Given the description of an element on the screen output the (x, y) to click on. 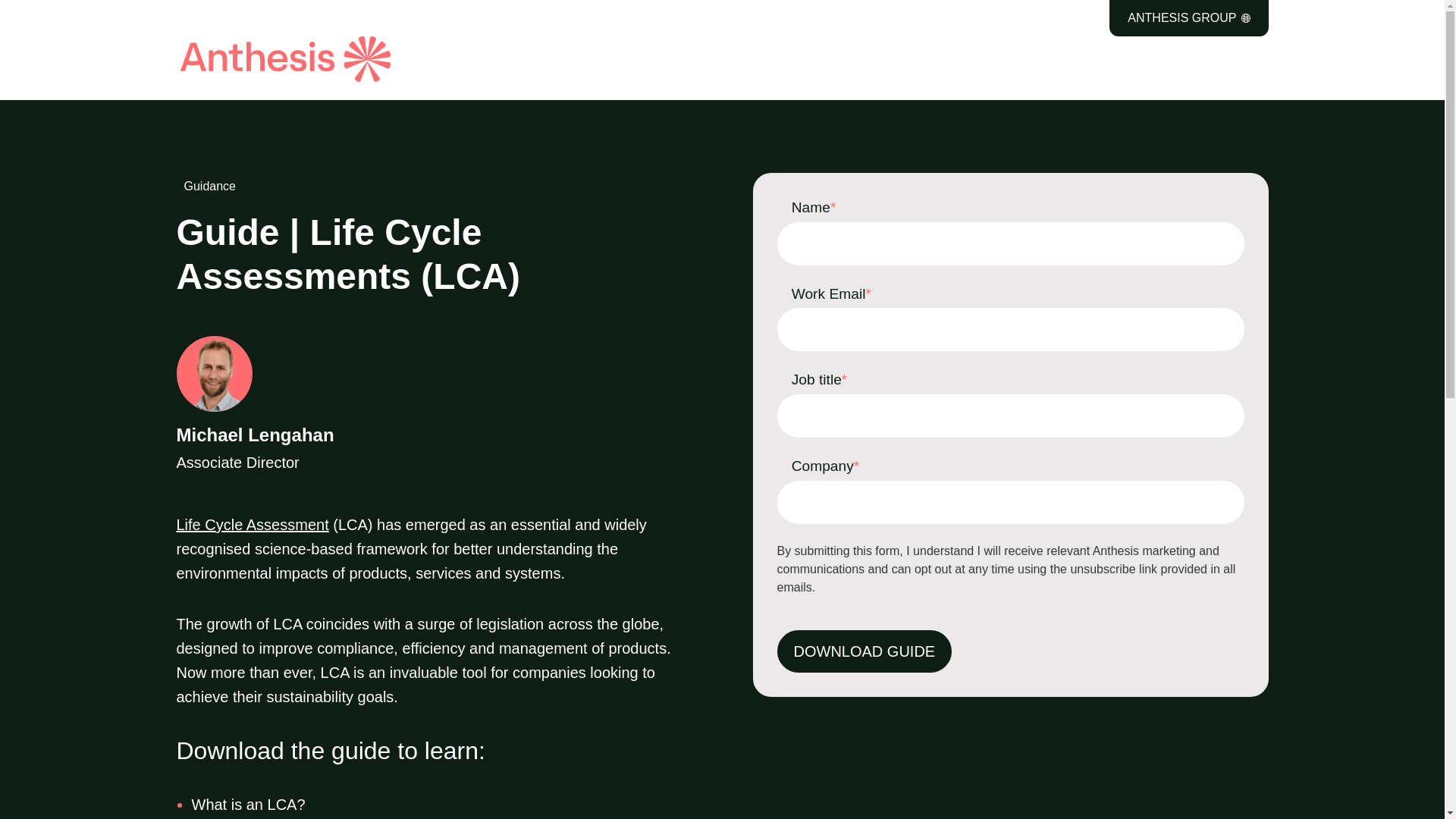
Life Cycle Assessment (252, 524)
Download Guide (864, 650)
Download Guide (864, 650)
Close (1399, 7)
ANTHESIS GROUP (433, 405)
